Given the description of an element on the screen output the (x, y) to click on. 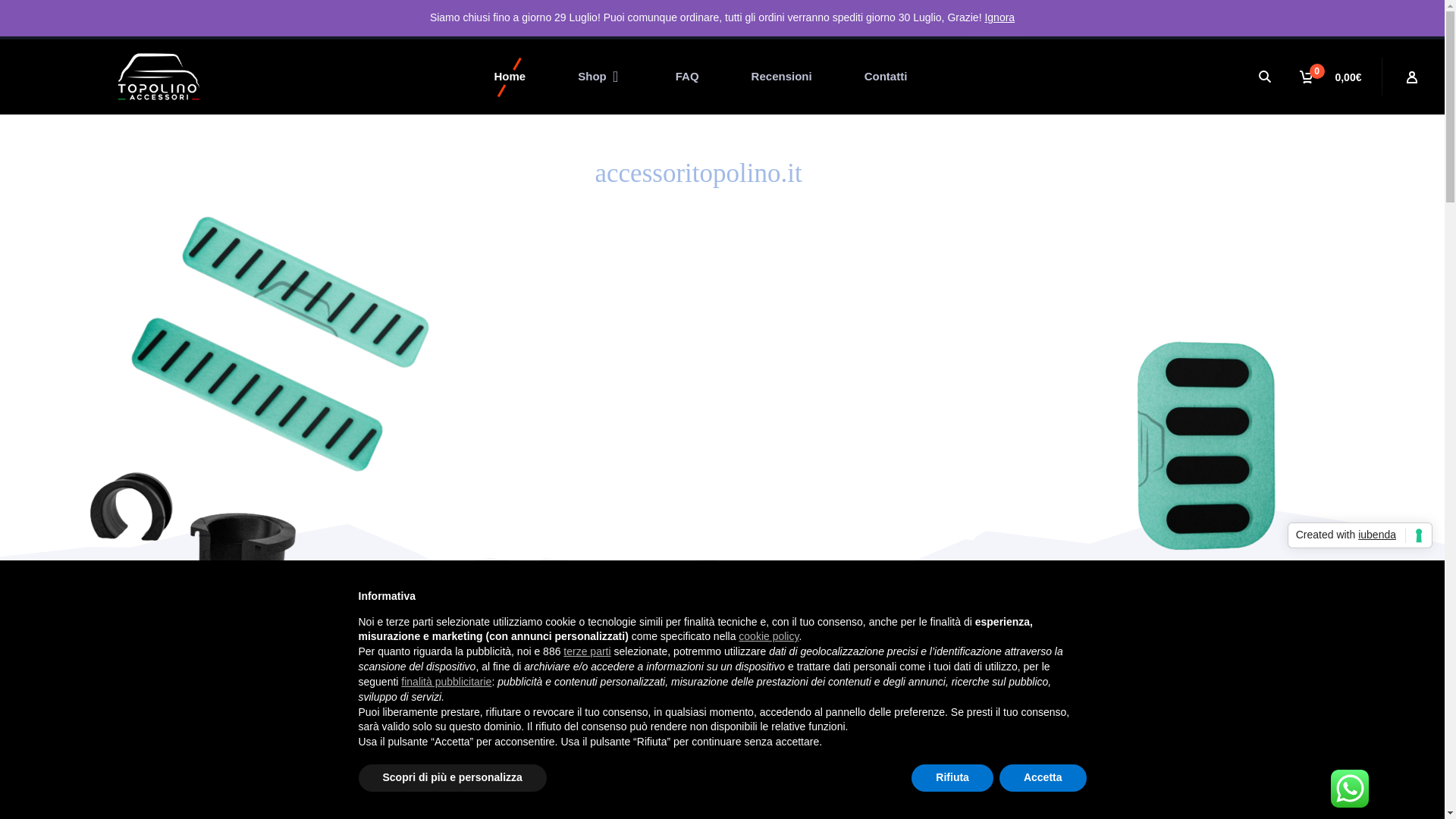
Home (510, 75)
FAQ (686, 75)
Recensioni (781, 75)
Shop (600, 75)
Contatti (885, 75)
Rome, Italy (125, 16)
Italian (1274, 798)
